Given the description of an element on the screen output the (x, y) to click on. 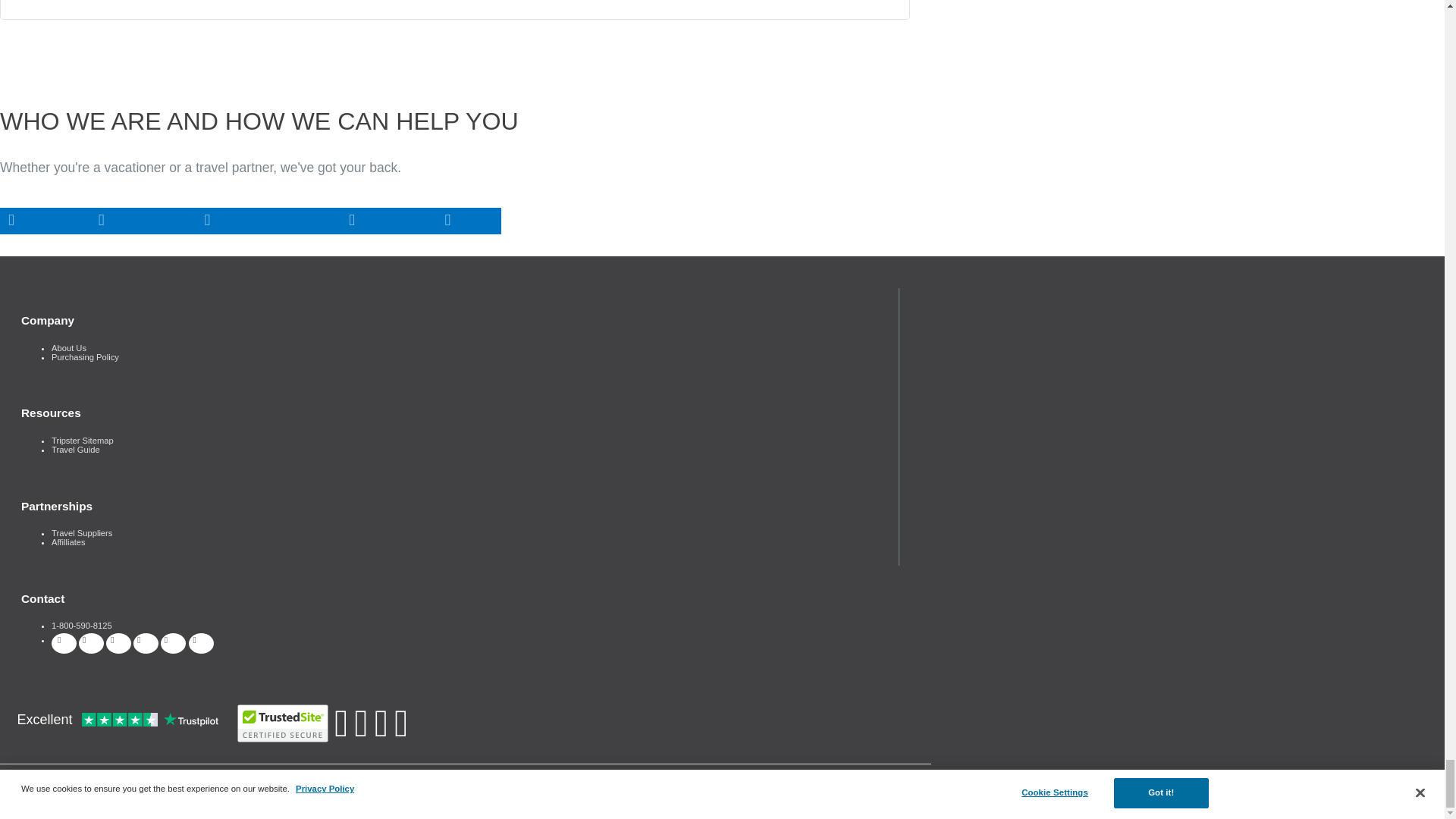
Customer reviews powered by Trustpilot (117, 720)
TrustedSite Certified (283, 723)
